Given the description of an element on the screen output the (x, y) to click on. 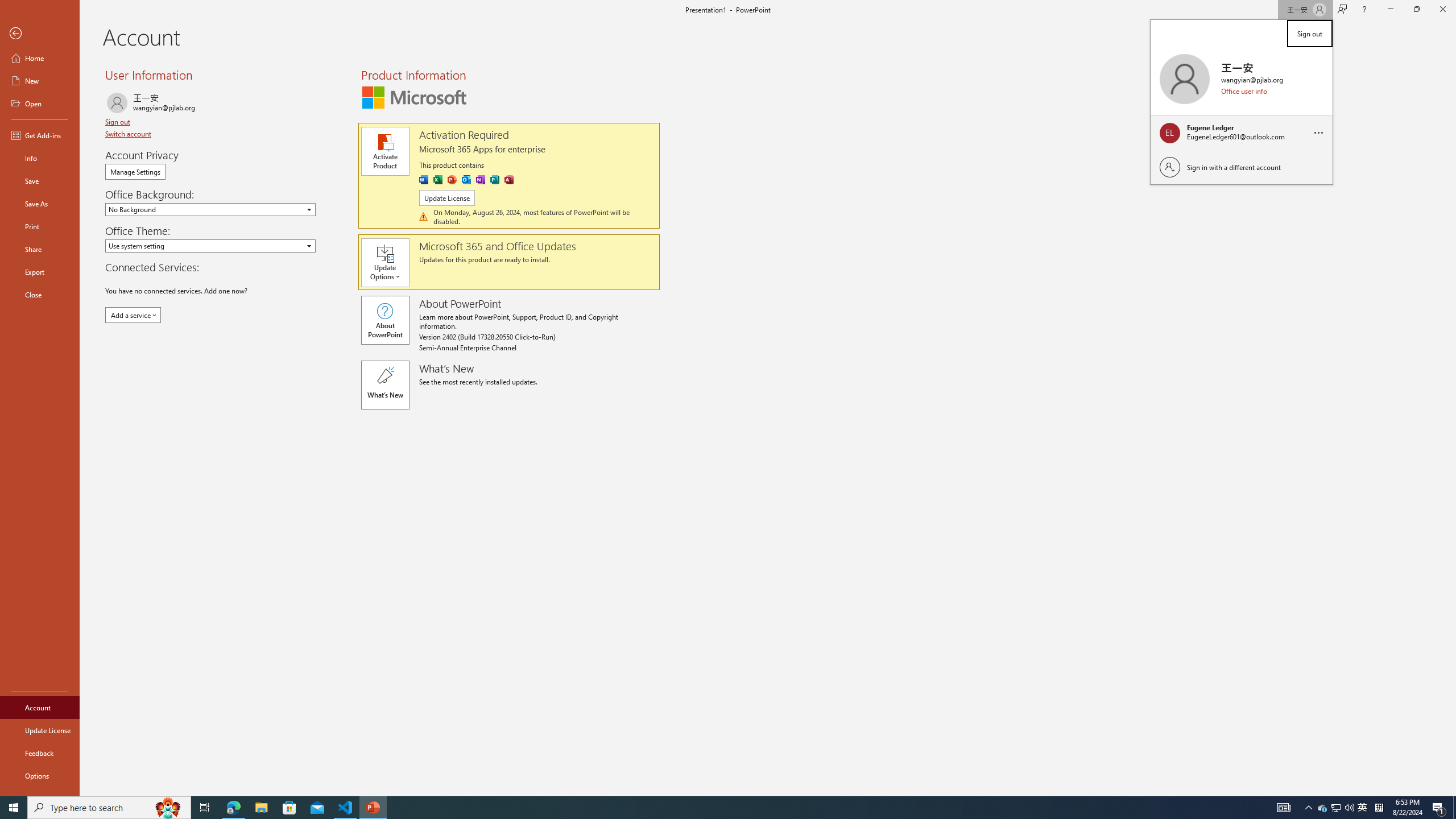
Info (40, 157)
Update Options (390, 262)
Activate Product (385, 151)
Outlook (465, 179)
Office Theme (209, 245)
About PowerPoint (385, 319)
Excel (437, 179)
Update License (40, 730)
